Given the description of an element on the screen output the (x, y) to click on. 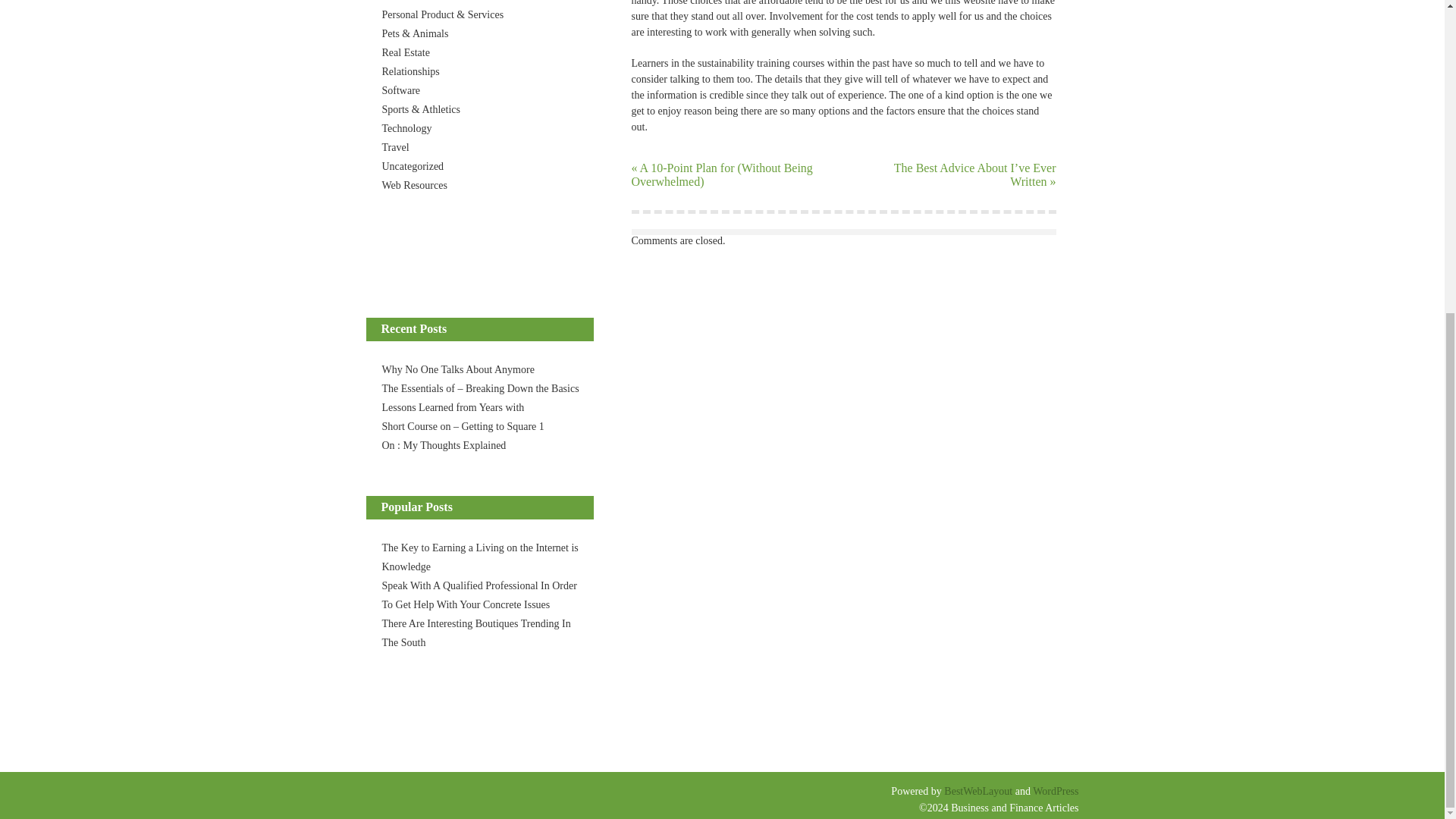
Real Estate (405, 52)
Why No One Talks About Anymore (457, 369)
Lessons Learned from Years with (452, 407)
Uncategorized (412, 165)
Relationships (410, 71)
On : My Thoughts Explained (443, 445)
Travel (395, 147)
Software (400, 90)
Miscellaneous (412, 0)
